Given the description of an element on the screen output the (x, y) to click on. 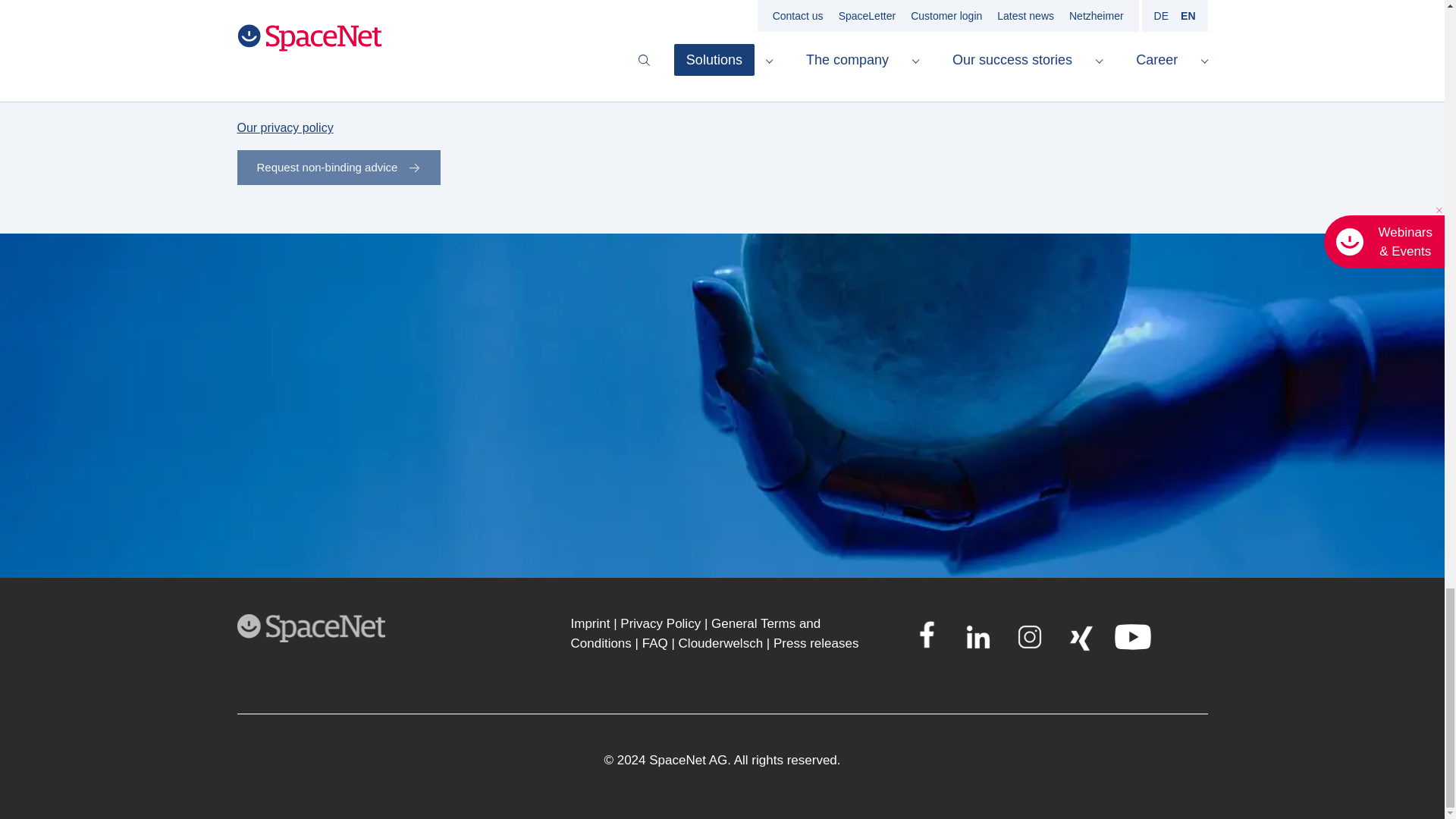
Yes (240, 92)
